Given the description of an element on the screen output the (x, y) to click on. 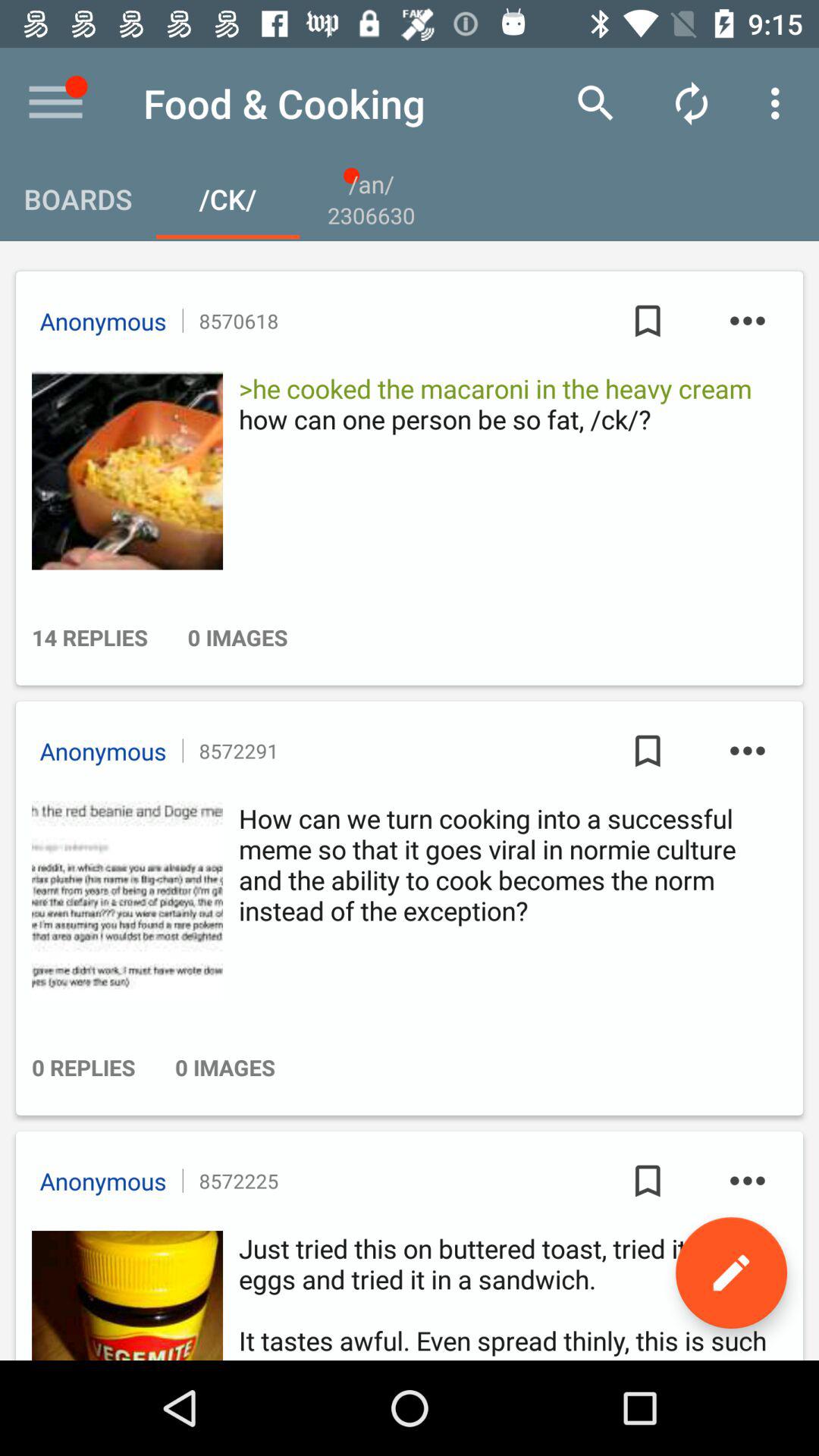
go to edit (731, 1272)
